Given the description of an element on the screen output the (x, y) to click on. 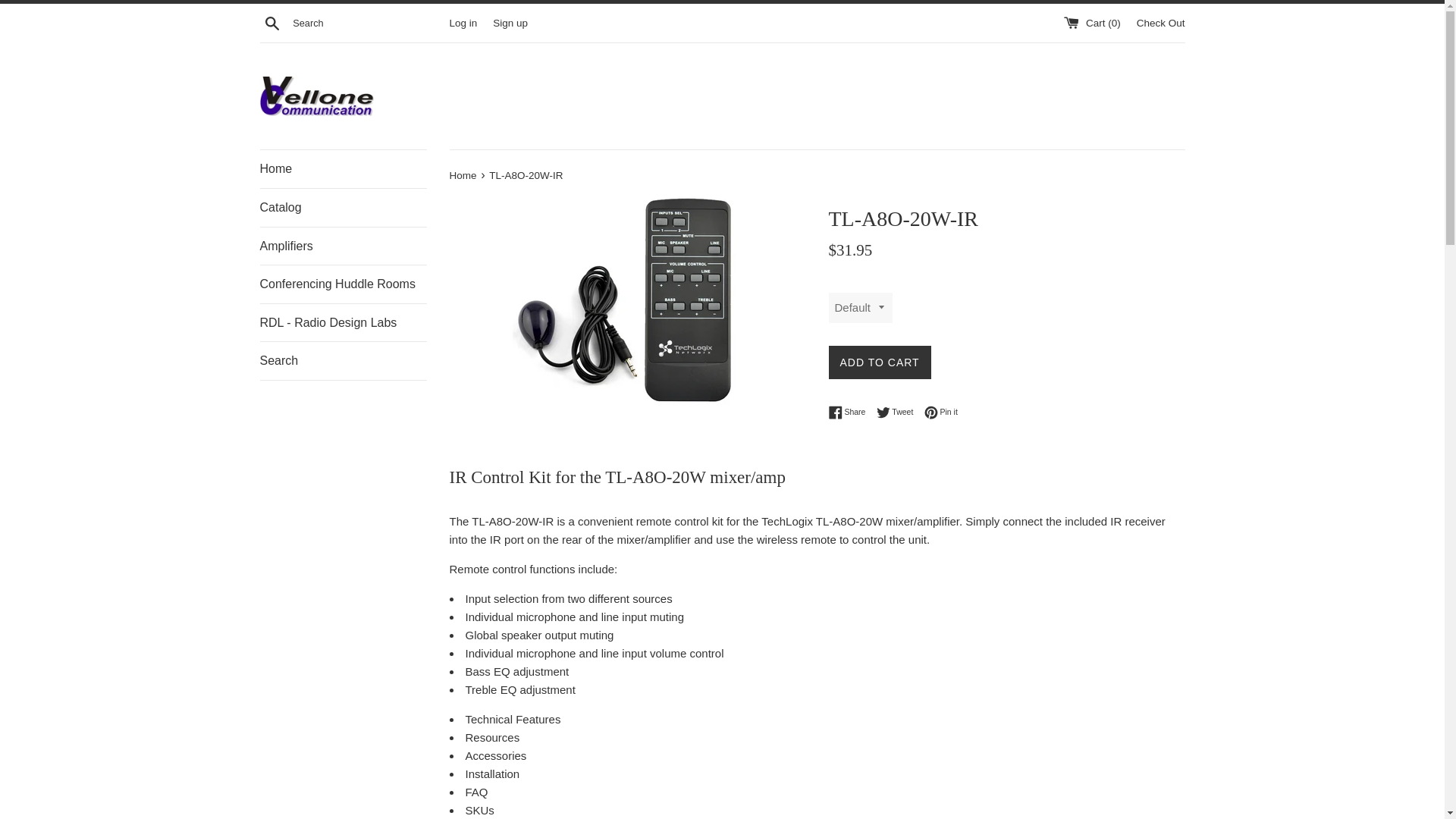
Back to the frontpage (463, 174)
Catalog (342, 207)
Conferencing Huddle Rooms (342, 284)
Tweet on Twitter (898, 412)
ADD TO CART (879, 362)
Log in (462, 21)
Pin on Pinterest (941, 412)
Check Out (1161, 21)
Home (463, 174)
